Given the description of an element on the screen output the (x, y) to click on. 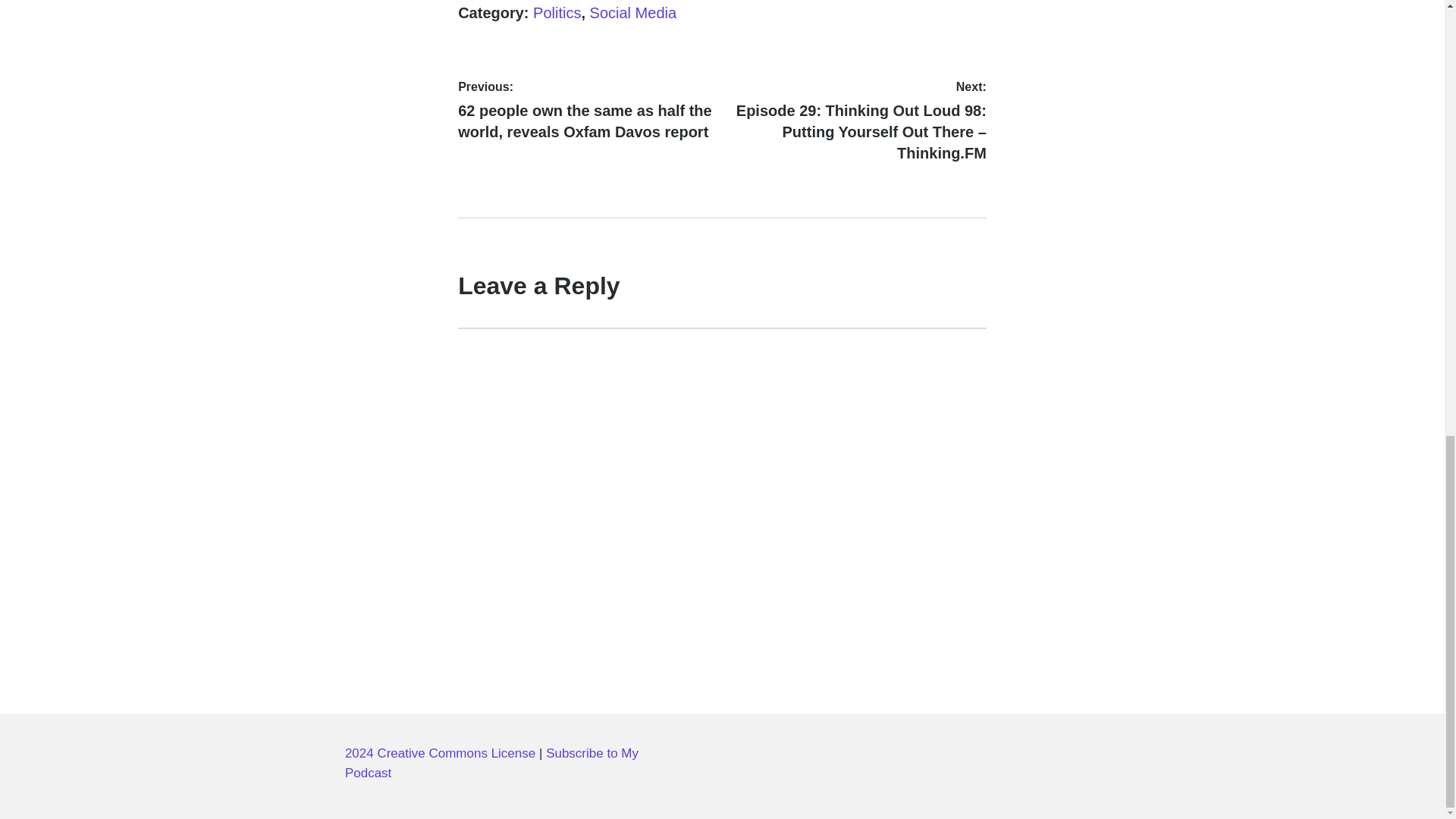
Social Media (633, 12)
Subscribe to My Podcast (492, 764)
2024 Creative Commons License (440, 754)
Politics (556, 12)
